Given the description of an element on the screen output the (x, y) to click on. 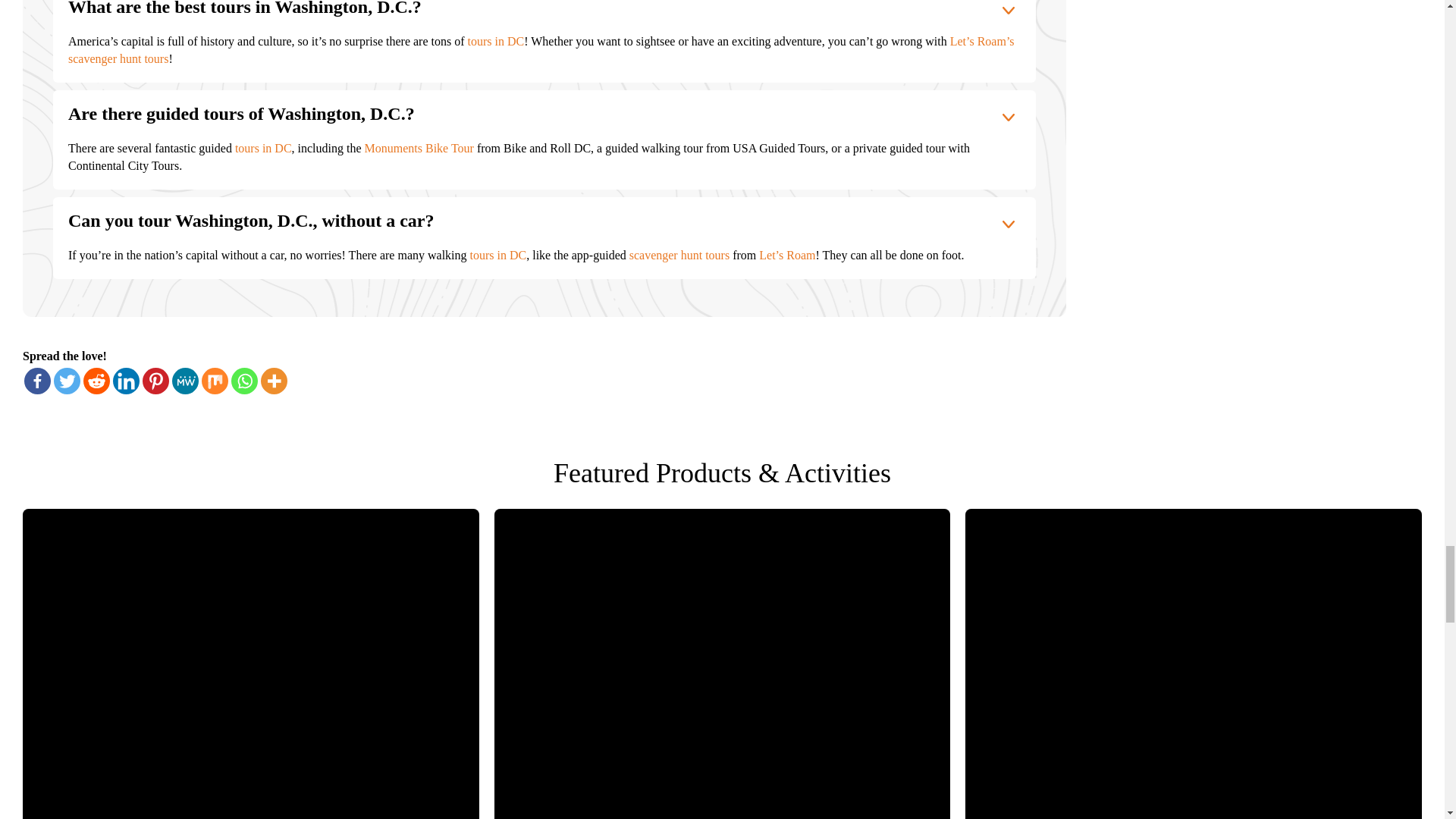
Facebook (37, 380)
Linkedin (126, 380)
Reddit (96, 380)
Twitter (66, 380)
Mix (215, 380)
More (273, 380)
Pinterest (155, 380)
MeWe (184, 380)
Whatsapp (244, 380)
